Given the description of an element on the screen output the (x, y) to click on. 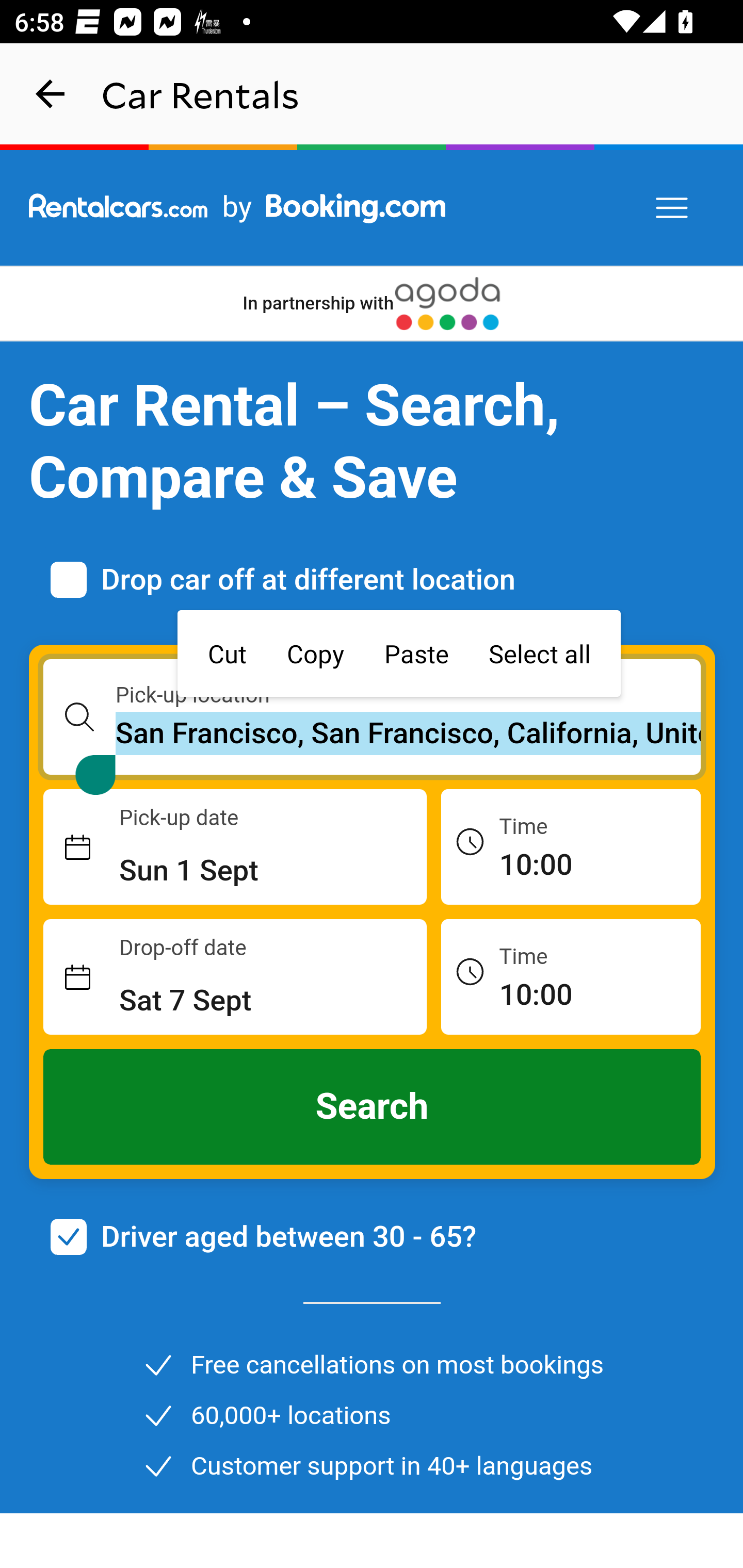
navigation_button (50, 93)
Menu (672, 208)
Pick-up date Sun 1 Sept (235, 847)
10:00 (571, 845)
Drop-off date Sat 7 Sept (235, 977)
10:00 (571, 975)
Search (372, 1106)
